Given the description of an element on the screen output the (x, y) to click on. 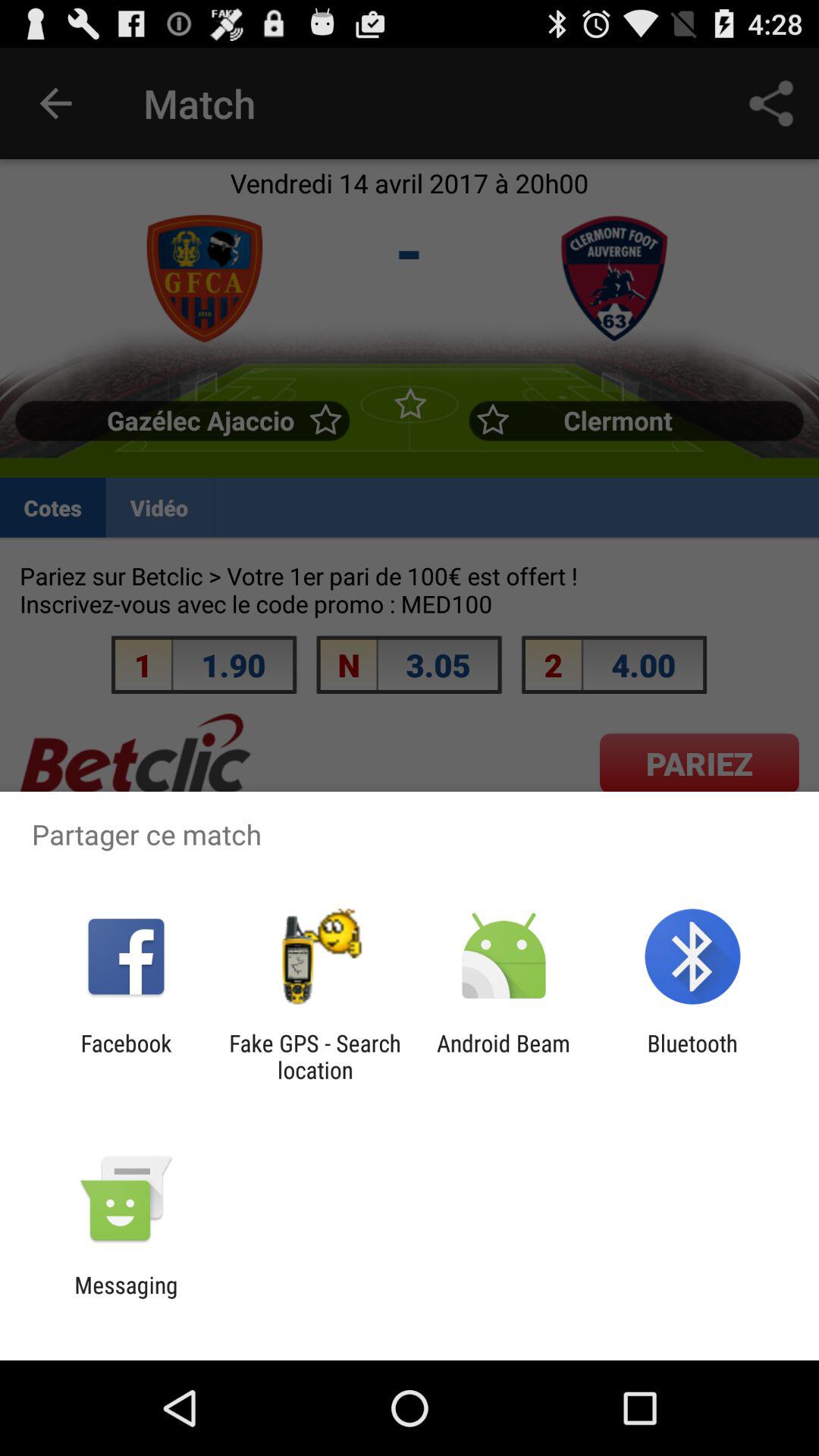
press the fake gps search item (314, 1056)
